Given the description of an element on the screen output the (x, y) to click on. 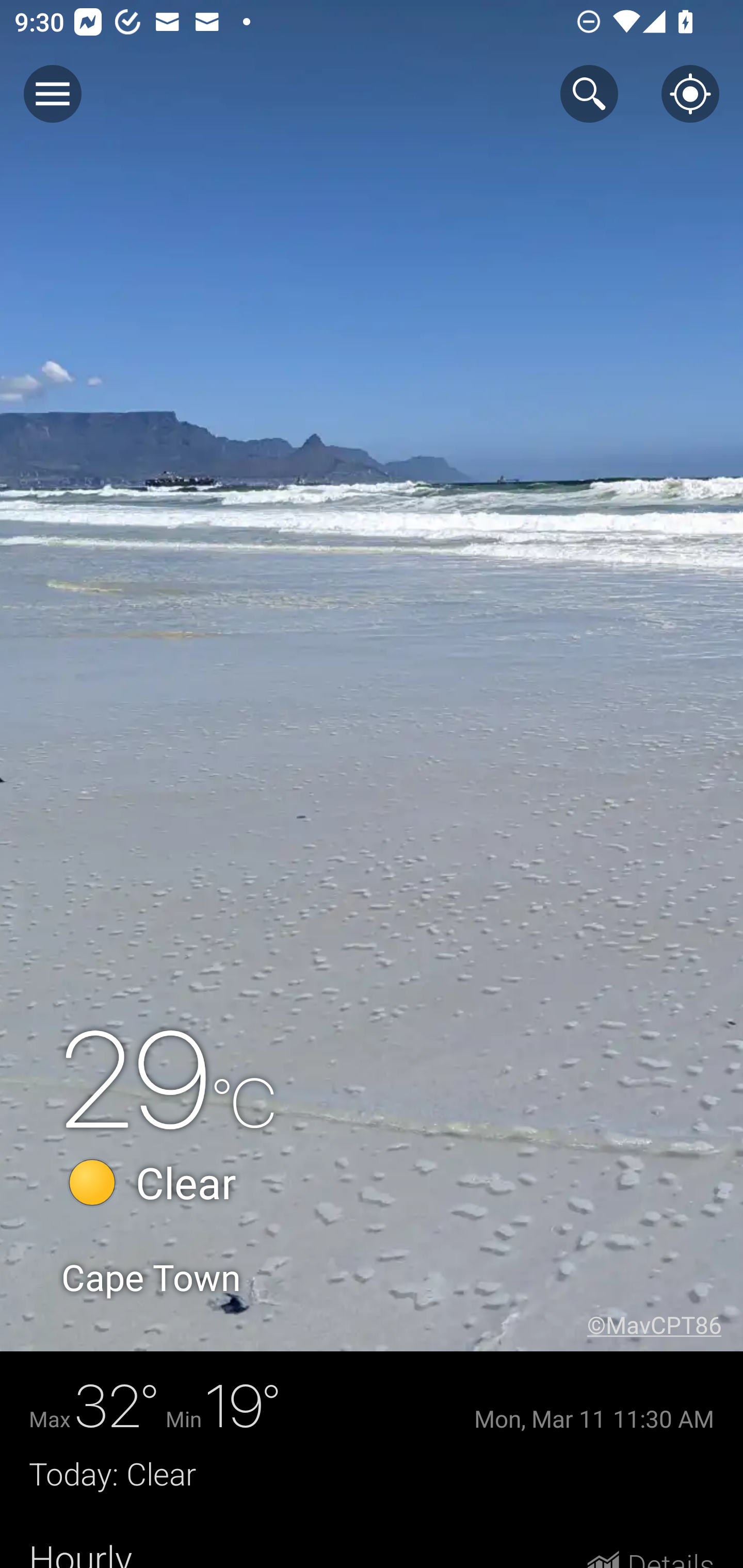
©MavCPT86 (664, 1324)
